Given the description of an element on the screen output the (x, y) to click on. 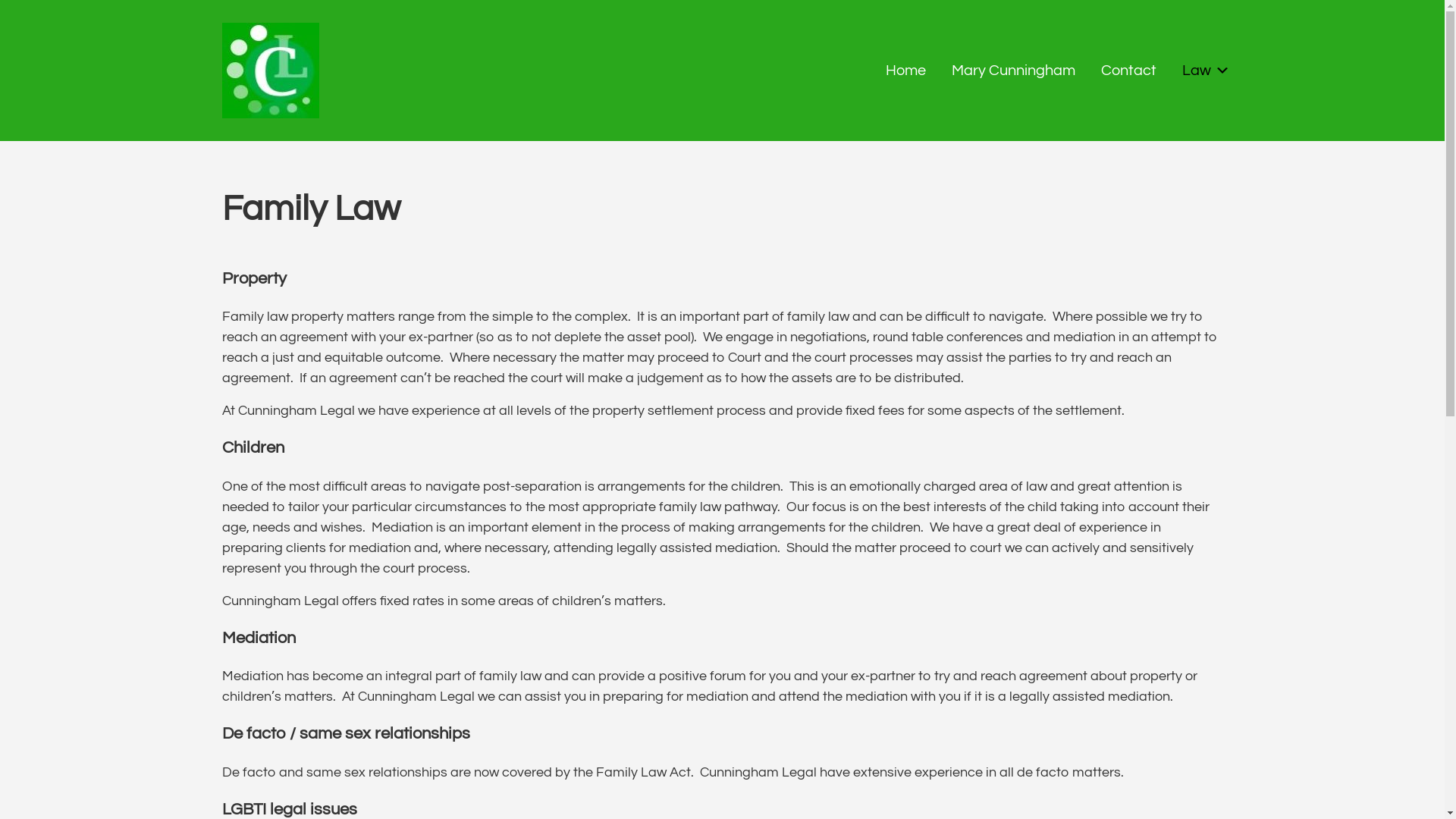
Contact Element type: text (1128, 70)
Mary Cunningham Element type: text (1013, 70)
Home Element type: text (905, 70)
Law Element type: text (1202, 70)
